Given the description of an element on the screen output the (x, y) to click on. 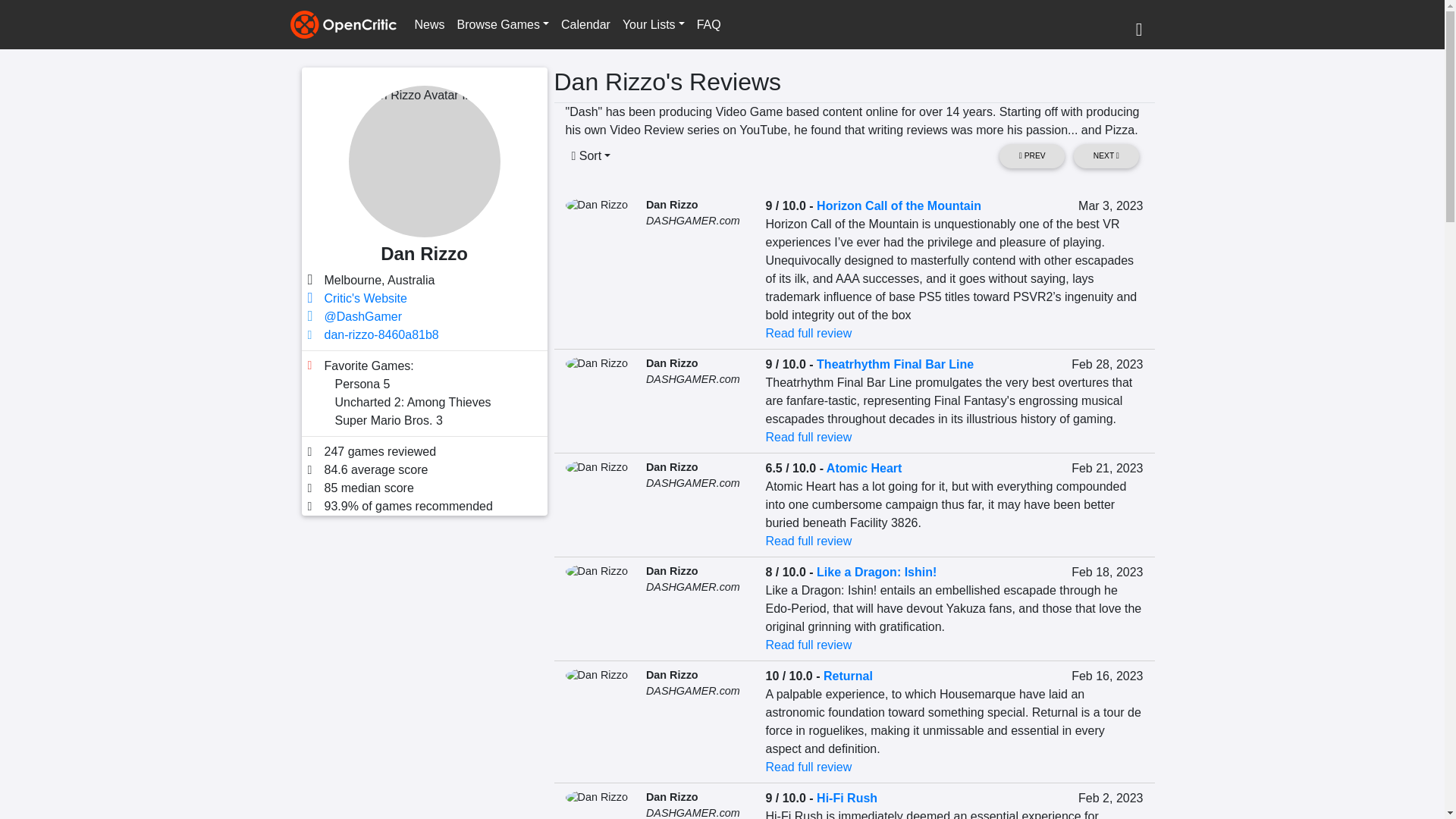
FAQ (708, 24)
Dan Rizzo (672, 204)
Browse Games (502, 24)
Dan Rizzo (672, 363)
Read full review (808, 436)
NEXT (1106, 155)
DASHGAMER.com (692, 378)
Theatrhythm Final Bar Line (895, 364)
Critic's Website (365, 297)
Calendar (584, 24)
